Given the description of an element on the screen output the (x, y) to click on. 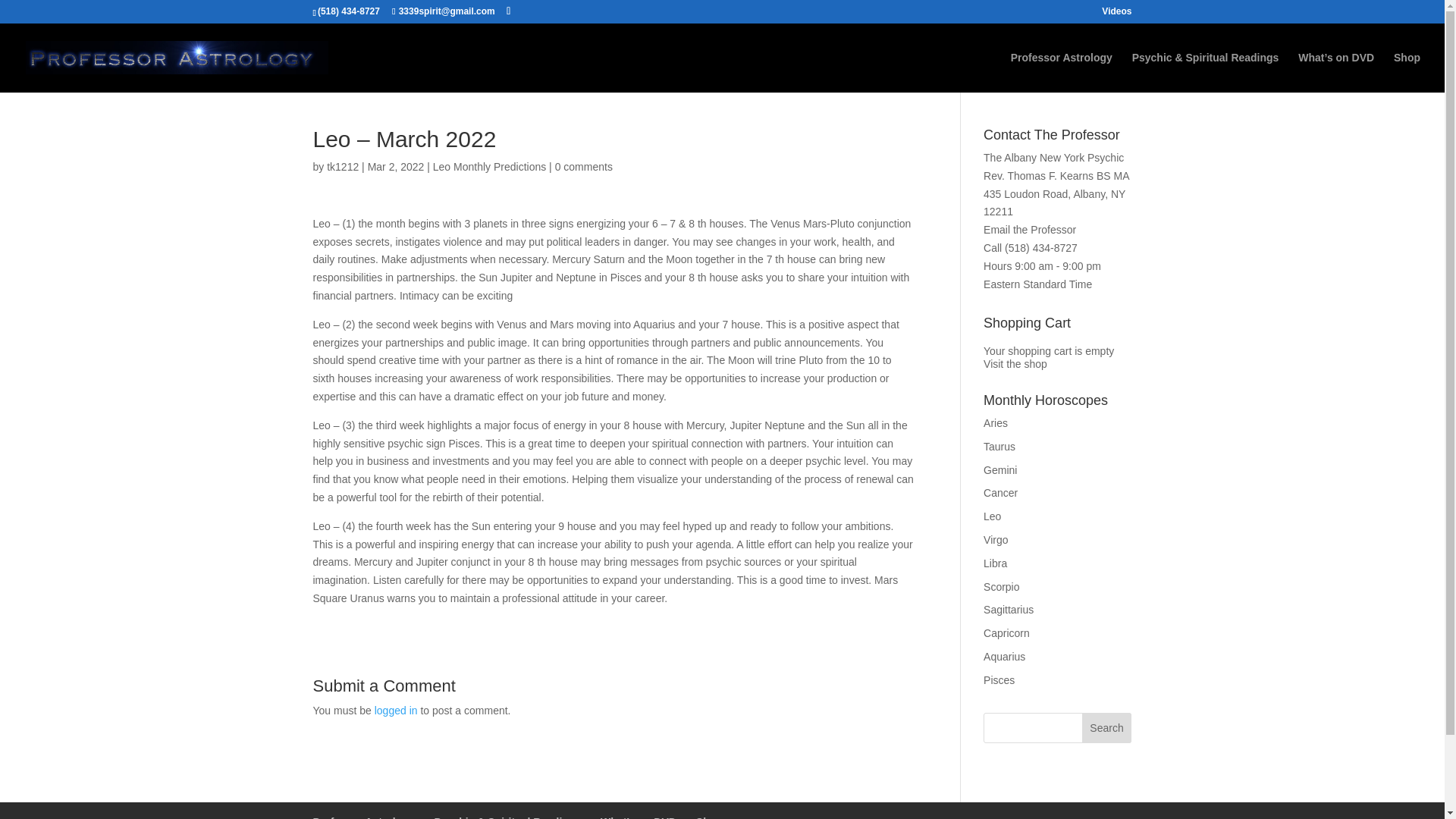
Aries (995, 422)
Videos (1116, 14)
Shop (708, 817)
Virgo (995, 539)
Sagittarius (1008, 609)
logged in (395, 710)
Visit Shop (1015, 363)
Search (1106, 727)
Leo (992, 516)
Scorpio (1001, 586)
Leo Monthly Predictions (489, 166)
Shop (1407, 72)
Professor Astrology (363, 817)
Search (1106, 727)
Posts by tk1212 (342, 166)
